Given the description of an element on the screen output the (x, y) to click on. 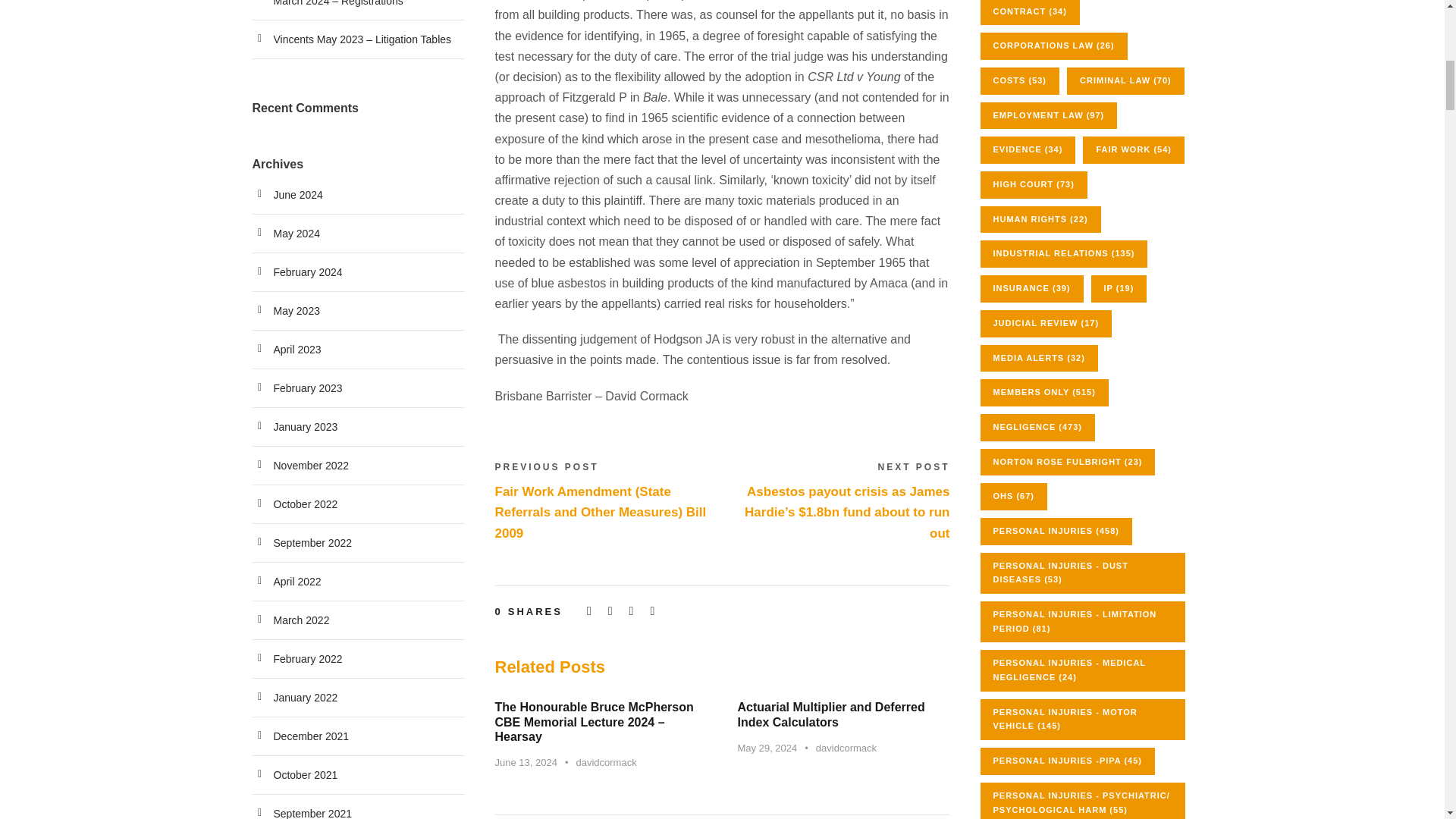
May 29, 2024 (766, 747)
June 13, 2024 (525, 762)
Actuarial Multiplier and Deferred Index Calculators (830, 714)
Posts by davidcormack (845, 747)
Posts by davidcormack (605, 762)
davidcormack (605, 762)
davidcormack (845, 747)
